Given the description of an element on the screen output the (x, y) to click on. 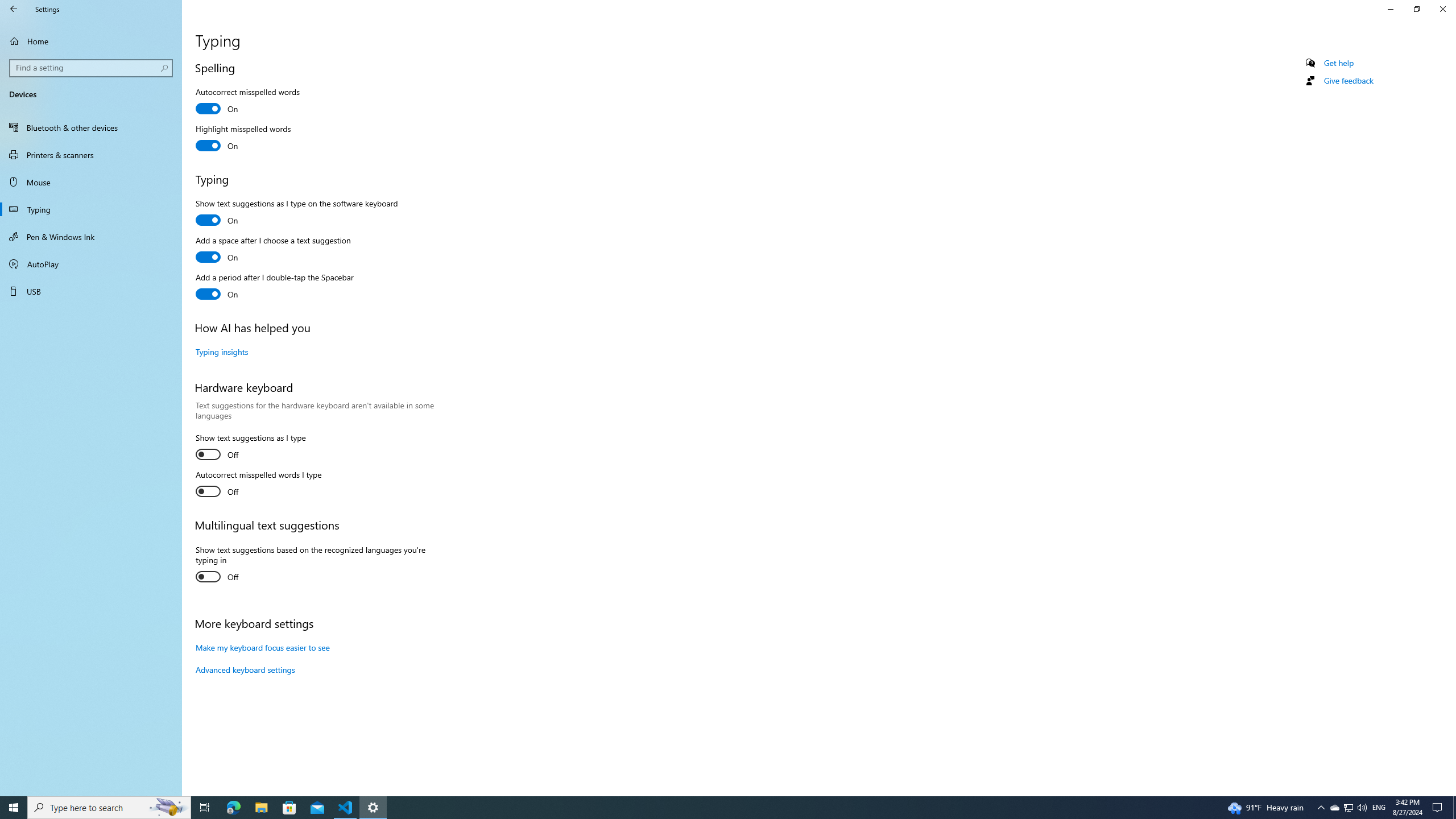
Restore Settings (1416, 9)
Typing (91, 208)
